Given the description of an element on the screen output the (x, y) to click on. 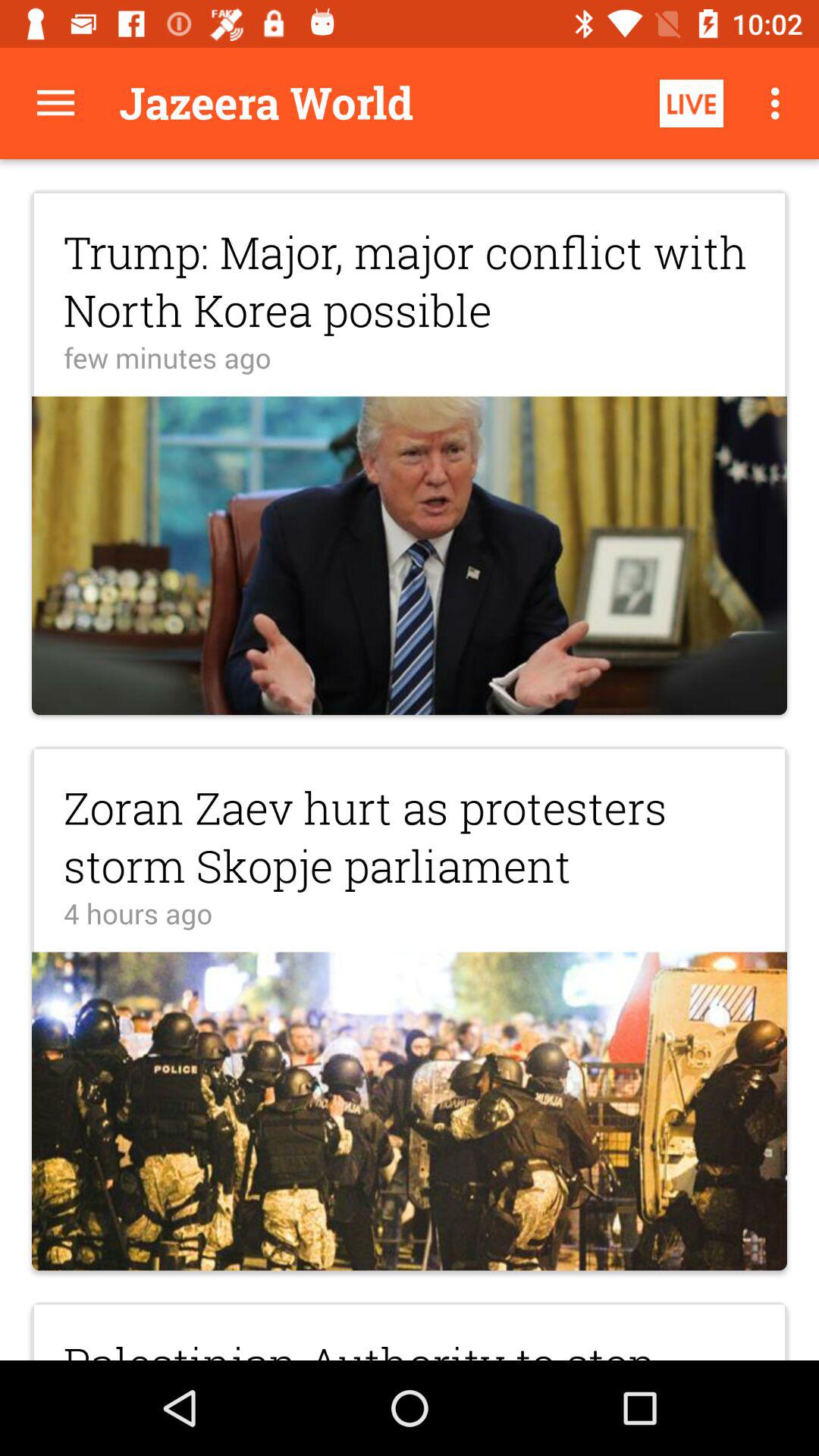
select the item next to jazeera world item (55, 103)
